Given the description of an element on the screen output the (x, y) to click on. 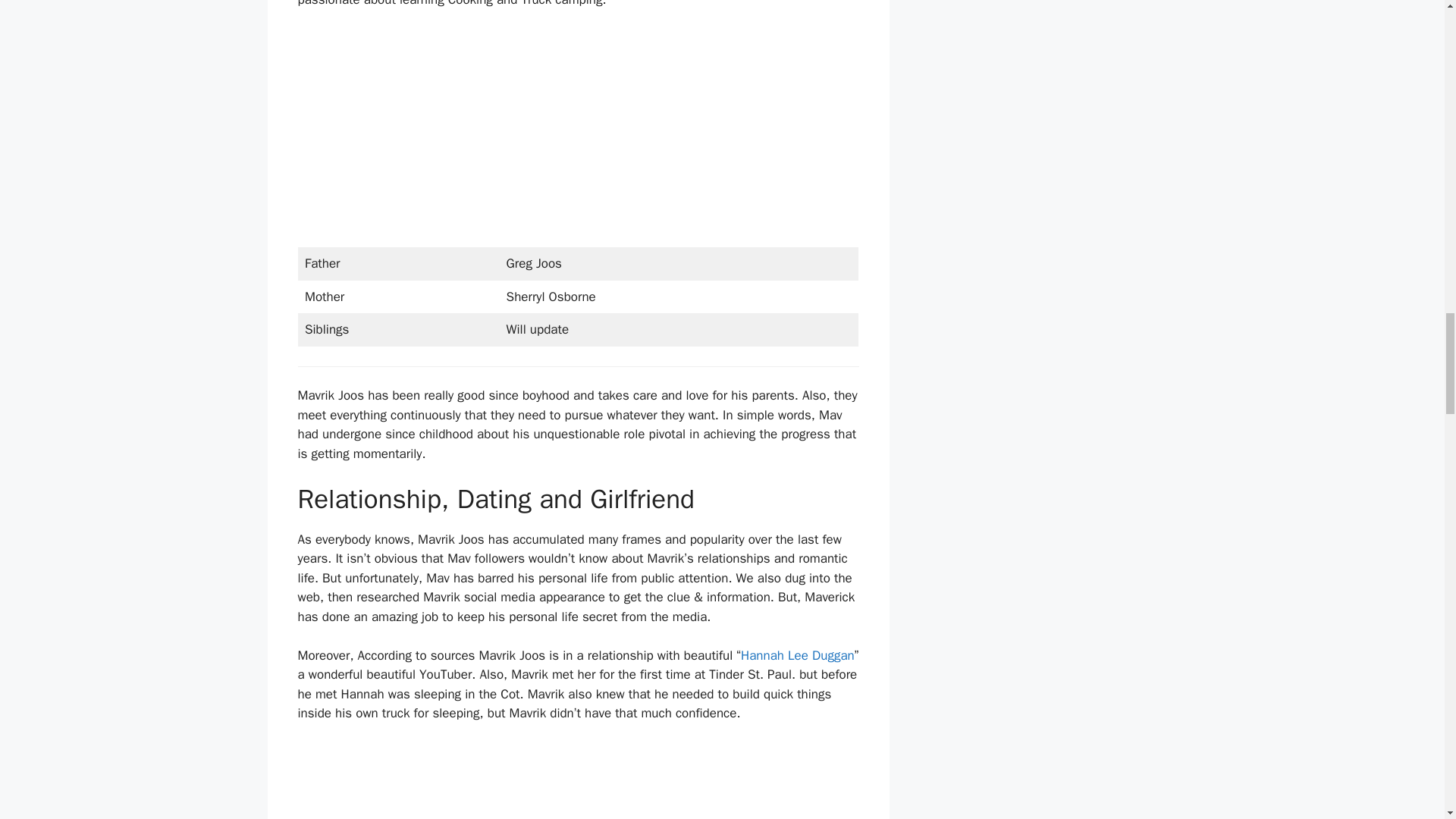
Advertisement (578, 780)
Hannah Lee Duggan (797, 655)
Advertisement (578, 134)
